Given the description of an element on the screen output the (x, y) to click on. 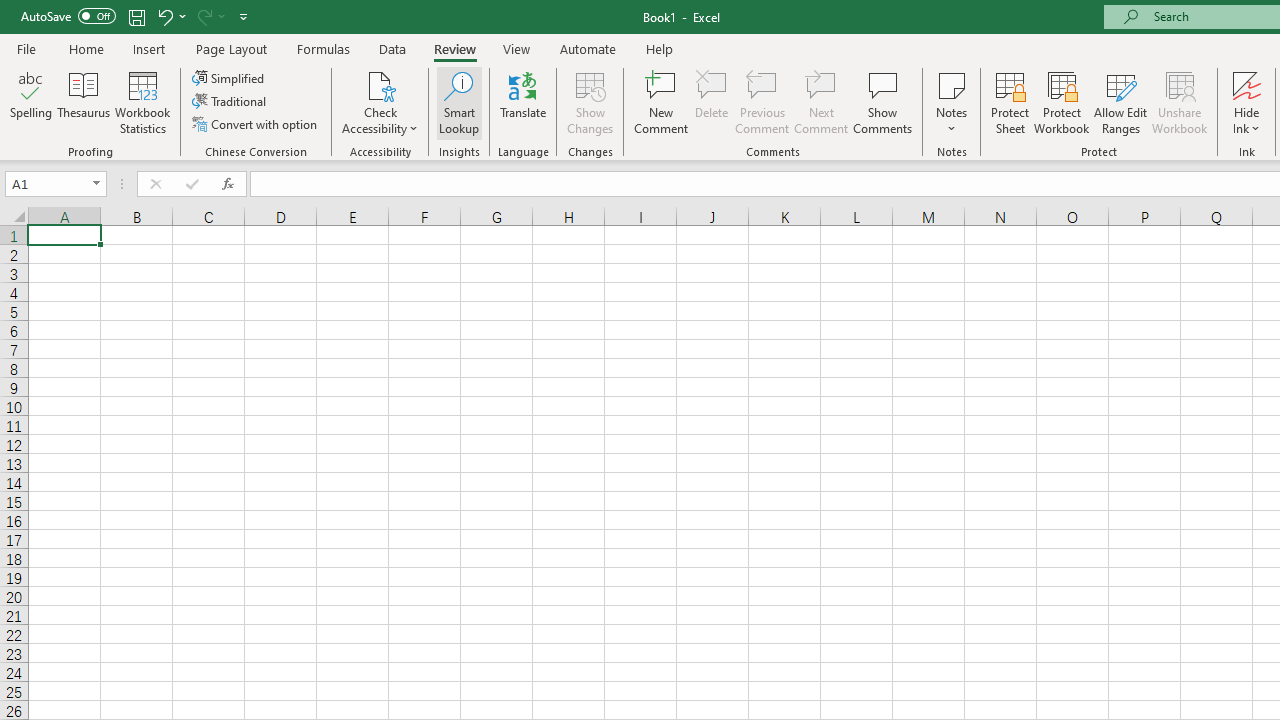
Convert with option (256, 124)
Protect Sheet... (1010, 102)
Hide Ink (1247, 102)
Check Accessibility (380, 84)
Check Accessibility (380, 102)
Notes (951, 102)
Show Changes (589, 102)
